Given the description of an element on the screen output the (x, y) to click on. 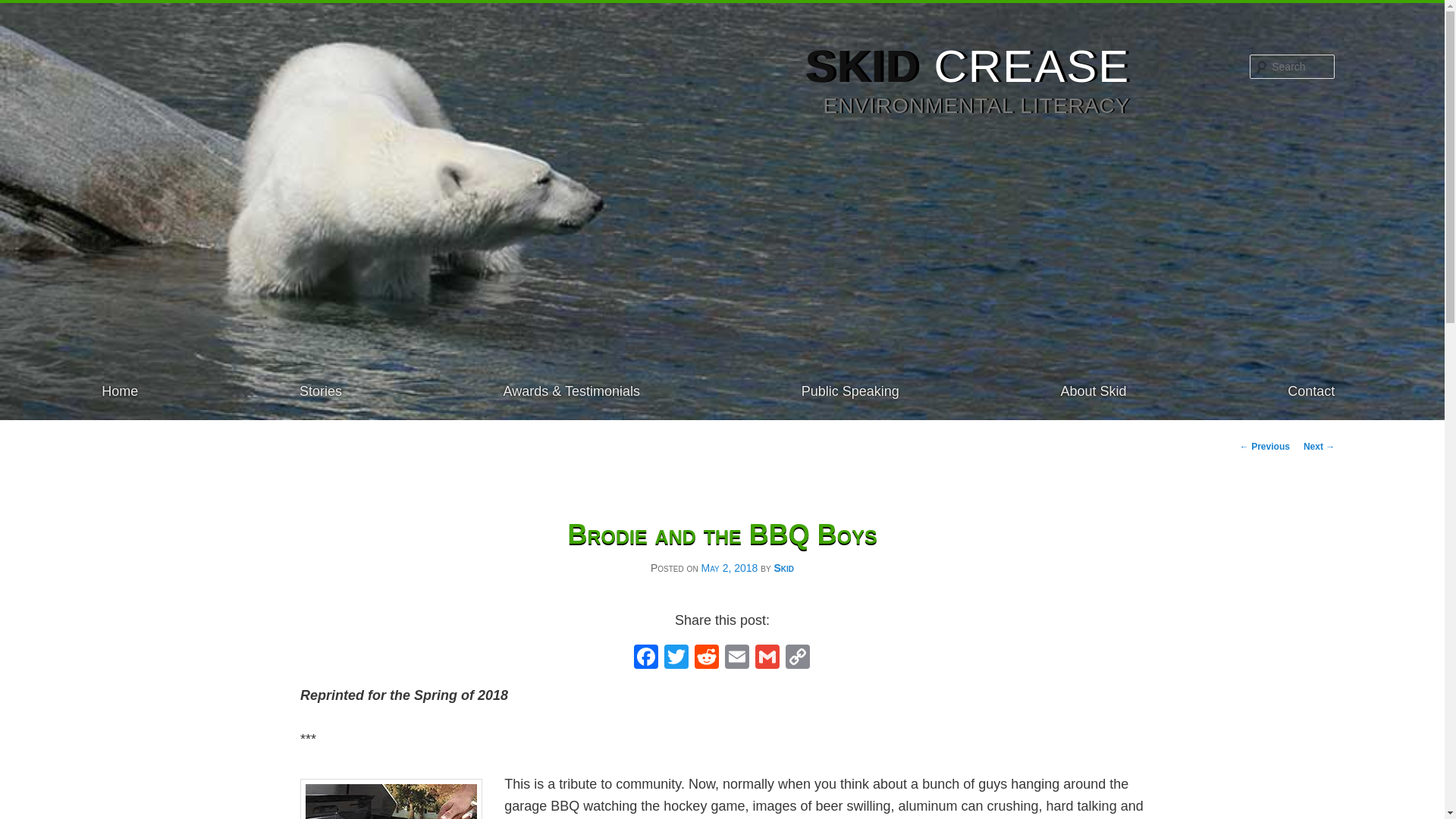
Stories (320, 391)
Home (119, 391)
Facebook (645, 658)
Twitter (676, 658)
Copy Link (797, 658)
12:14 pm (728, 567)
Facebook (645, 658)
Public Speaking (850, 391)
Contact (1311, 391)
Email (737, 658)
